Given the description of an element on the screen output the (x, y) to click on. 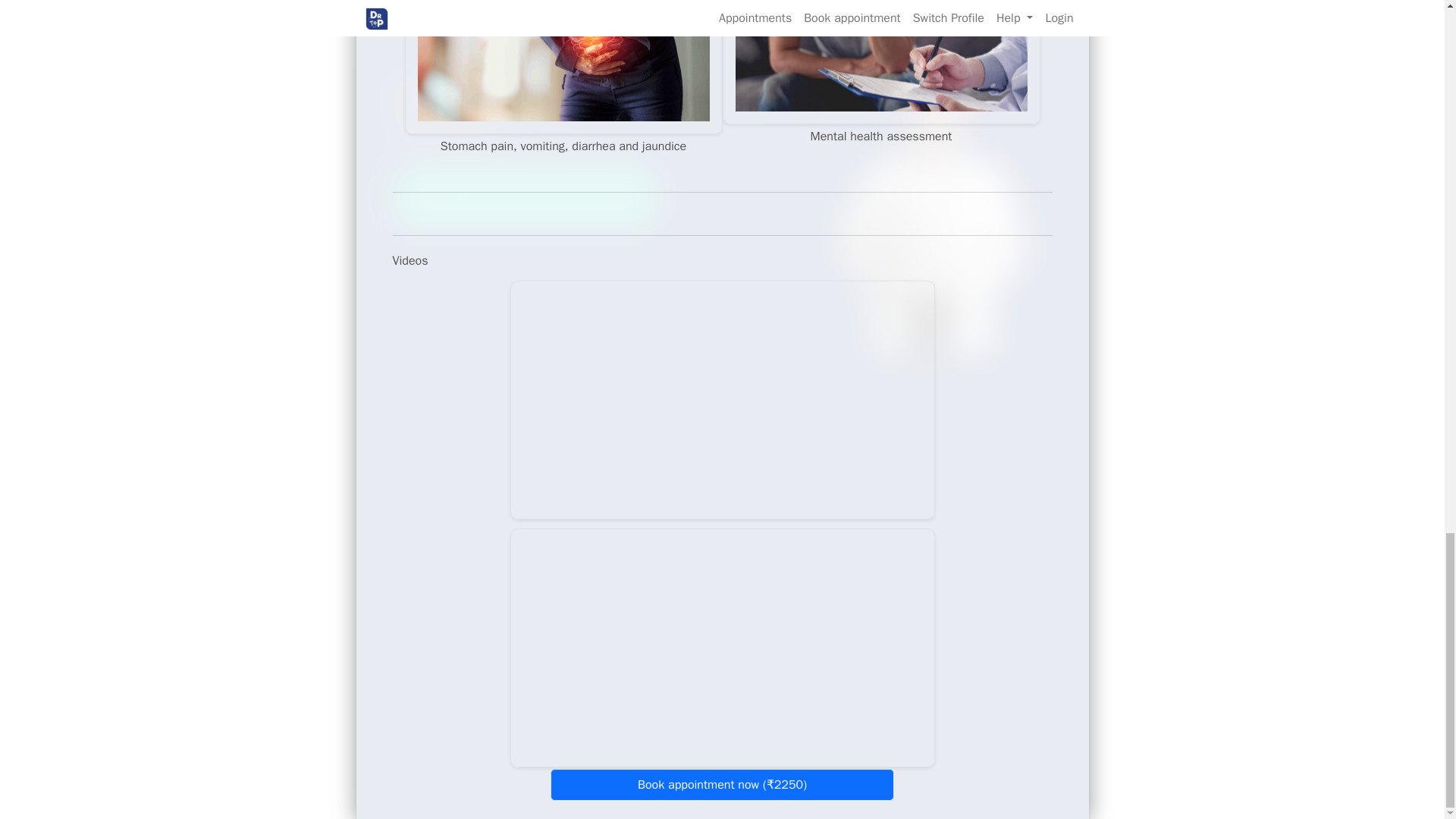
YouTube video player (721, 647)
YouTube video player (721, 399)
